Given the description of an element on the screen output the (x, y) to click on. 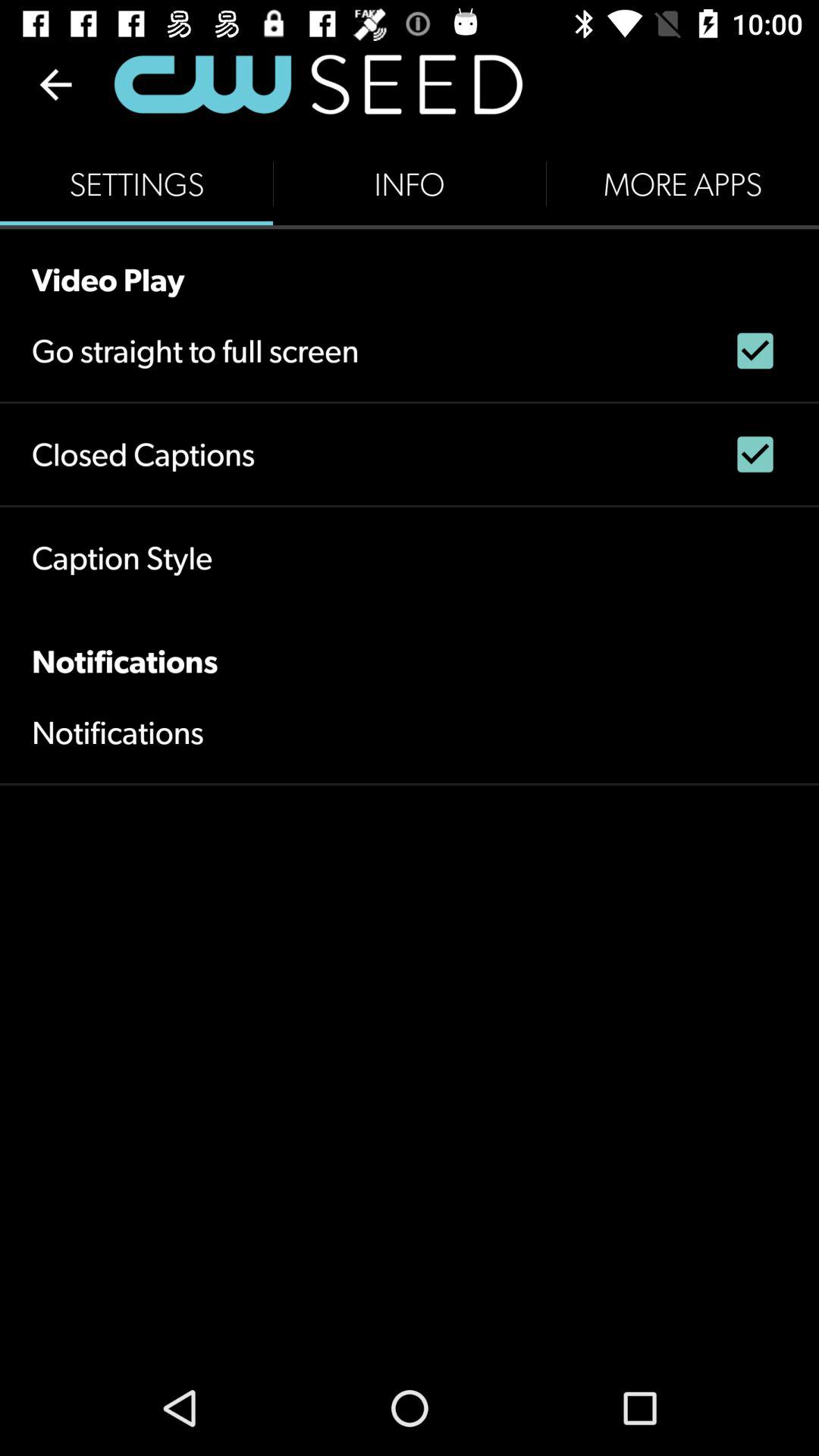
turn on the icon next to settings icon (409, 184)
